Given the description of an element on the screen output the (x, y) to click on. 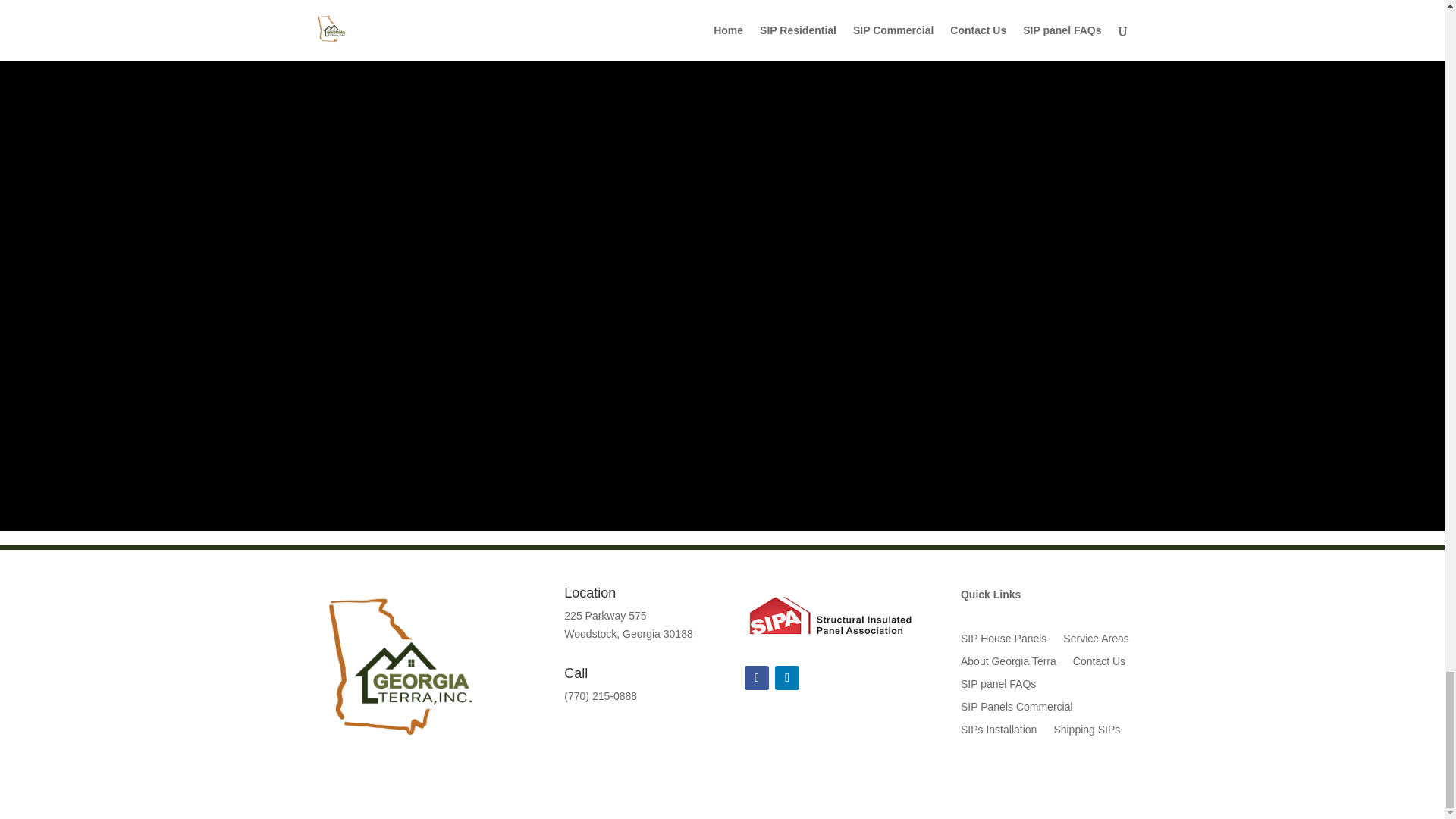
cropped-Georgia-Terra-Inc-logo-01.png (398, 671)
Follow on Facebook (756, 677)
Follow on LinkedIn (786, 677)
About Georgia Terra (1008, 664)
Service Areas (1095, 641)
SIP House Panels (1003, 641)
SIP panel FAQs (997, 686)
SIPA Structured Insulated Panel Association (829, 614)
SIPs Installation (998, 732)
Shipping SIPs (1085, 732)
